Given the description of an element on the screen output the (x, y) to click on. 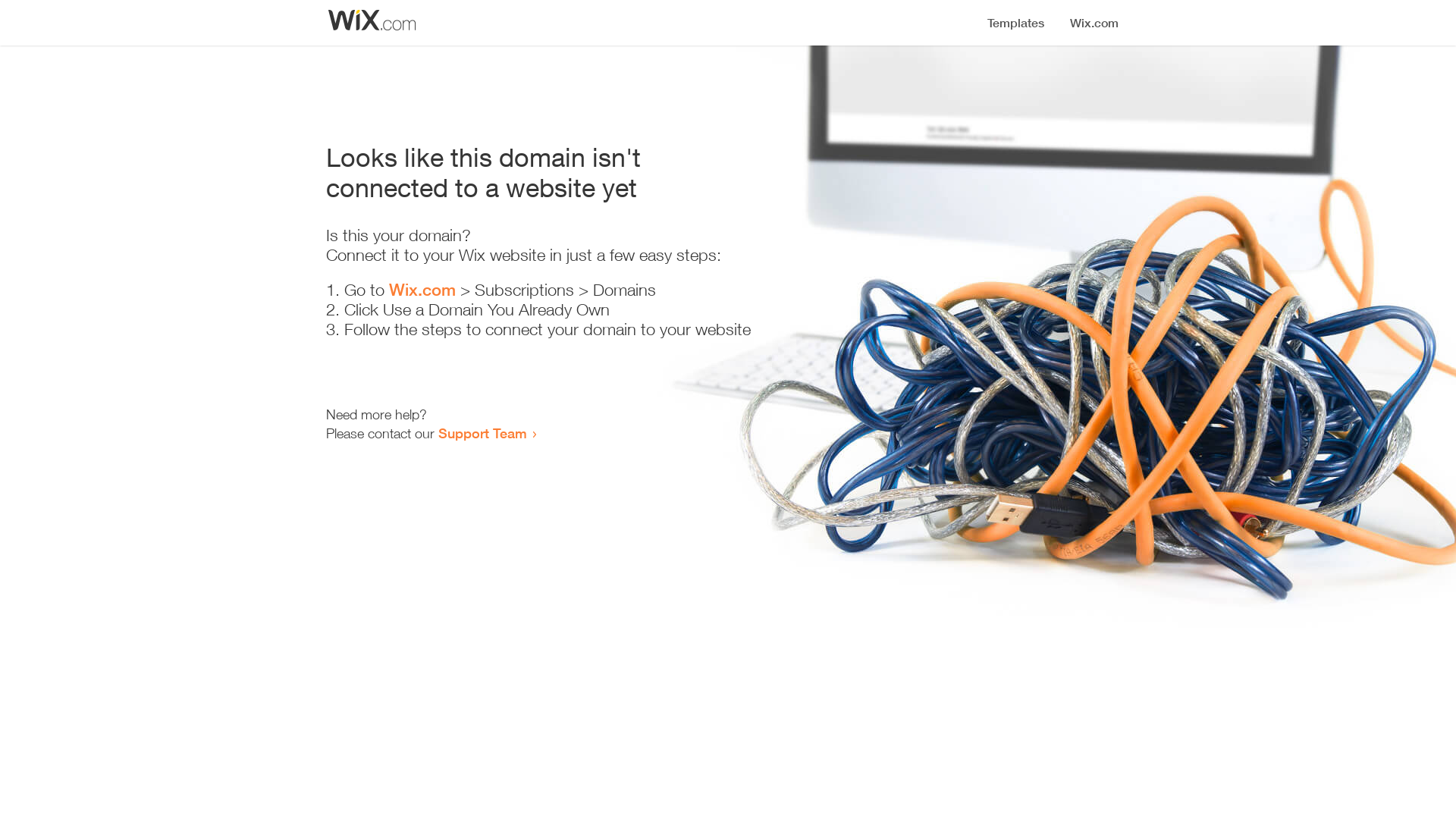
Support Team Element type: text (482, 432)
Wix.com Element type: text (422, 289)
